Given the description of an element on the screen output the (x, y) to click on. 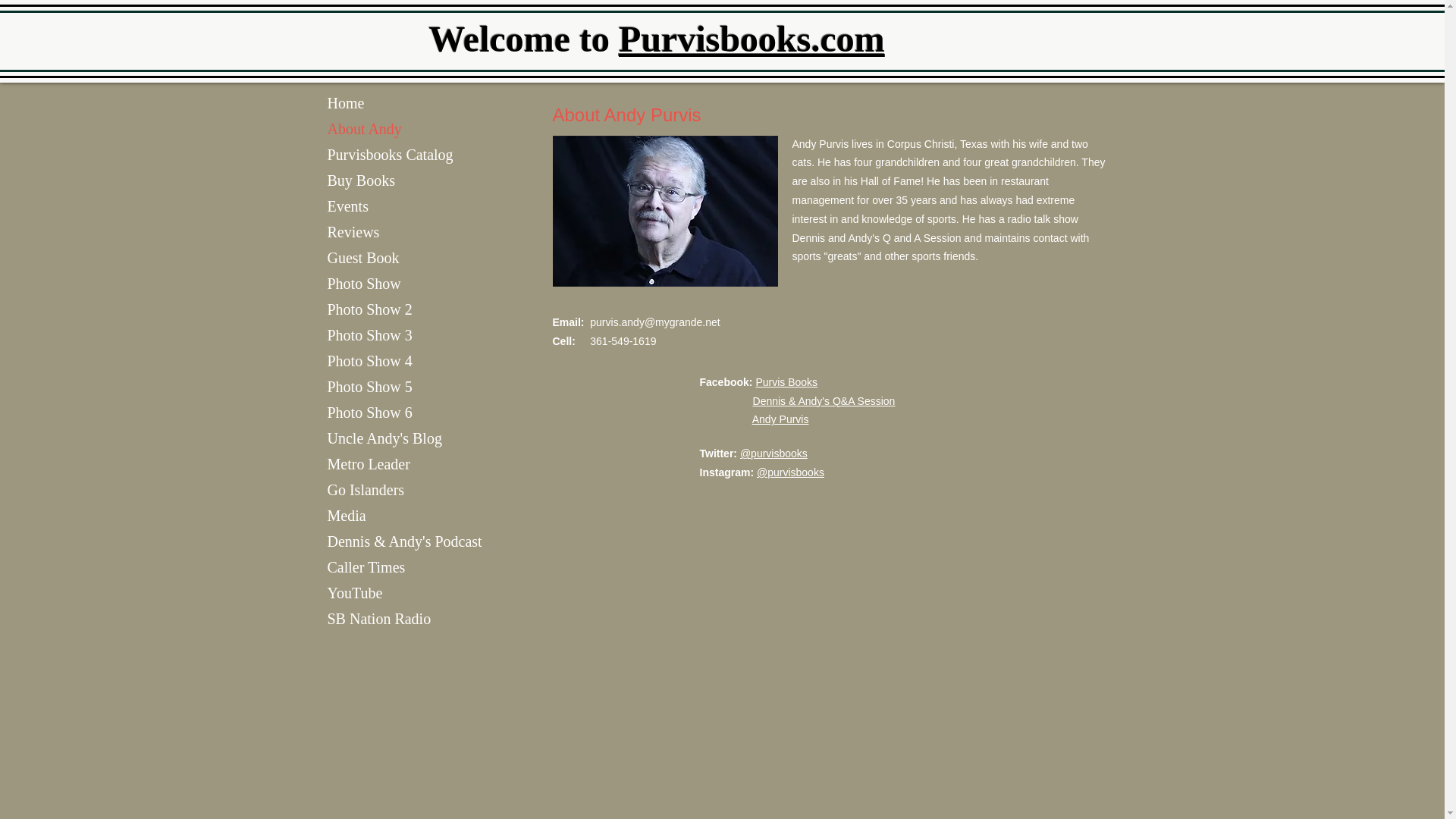
SB Nation Radio (379, 618)
Purvis Books (785, 381)
Photo Show 6 (370, 413)
Home (346, 103)
Photo Show 4 (370, 361)
Media (347, 515)
Events (347, 206)
Purvisbooks Catalog (390, 155)
Photo Show (364, 283)
Purvisbooks.com (751, 38)
Photo Show 3 (370, 335)
Reviews (353, 232)
Go Islanders (366, 490)
Buy Books (361, 180)
About Andy (364, 128)
